Given the description of an element on the screen output the (x, y) to click on. 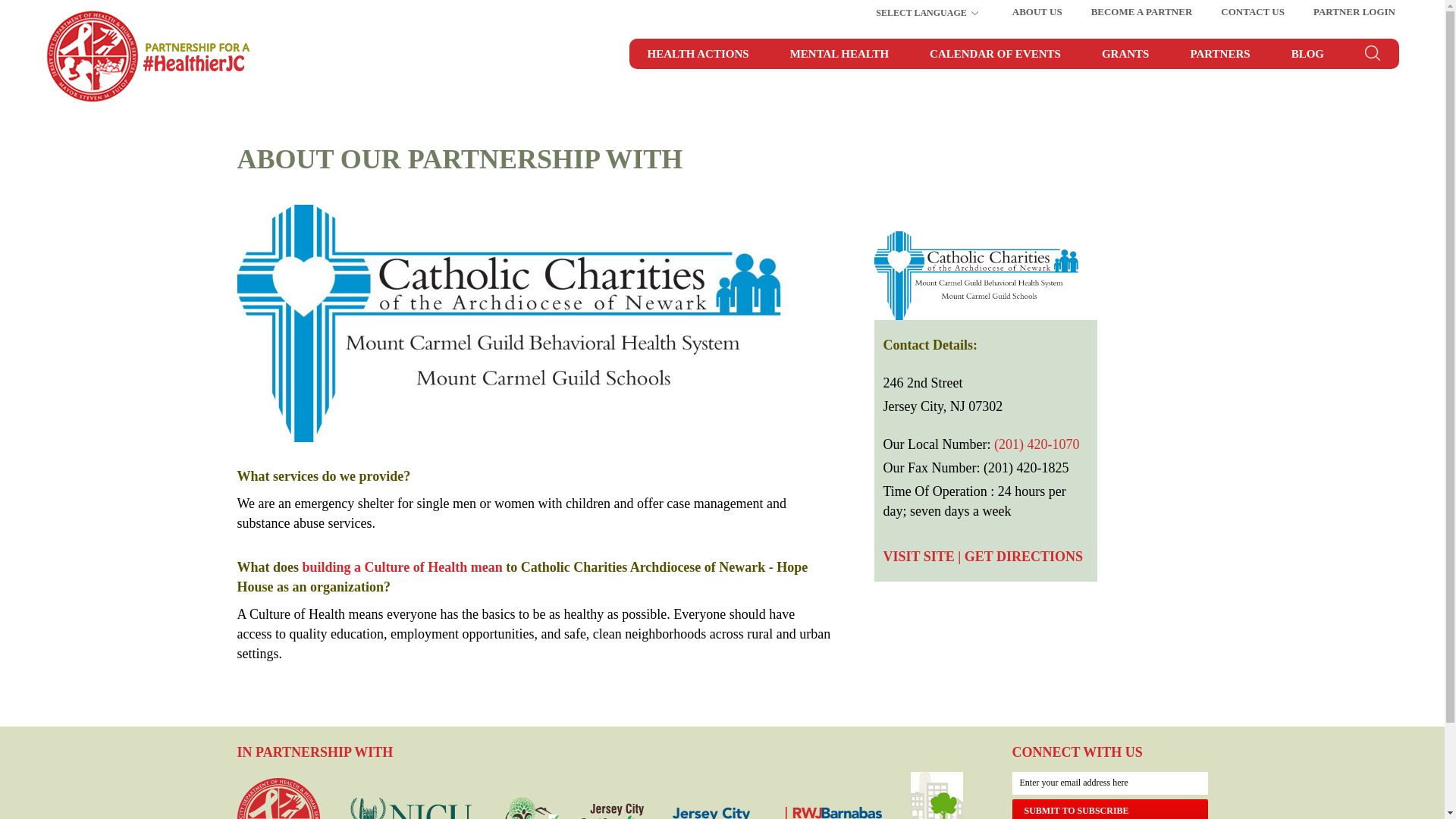
SELECT LANGUAGE (933, 11)
Catholic Charities Archdiocese of Newark Logo (984, 275)
skip to main content (53, 14)
Submit to subscribe (1109, 809)
